Given the description of an element on the screen output the (x, y) to click on. 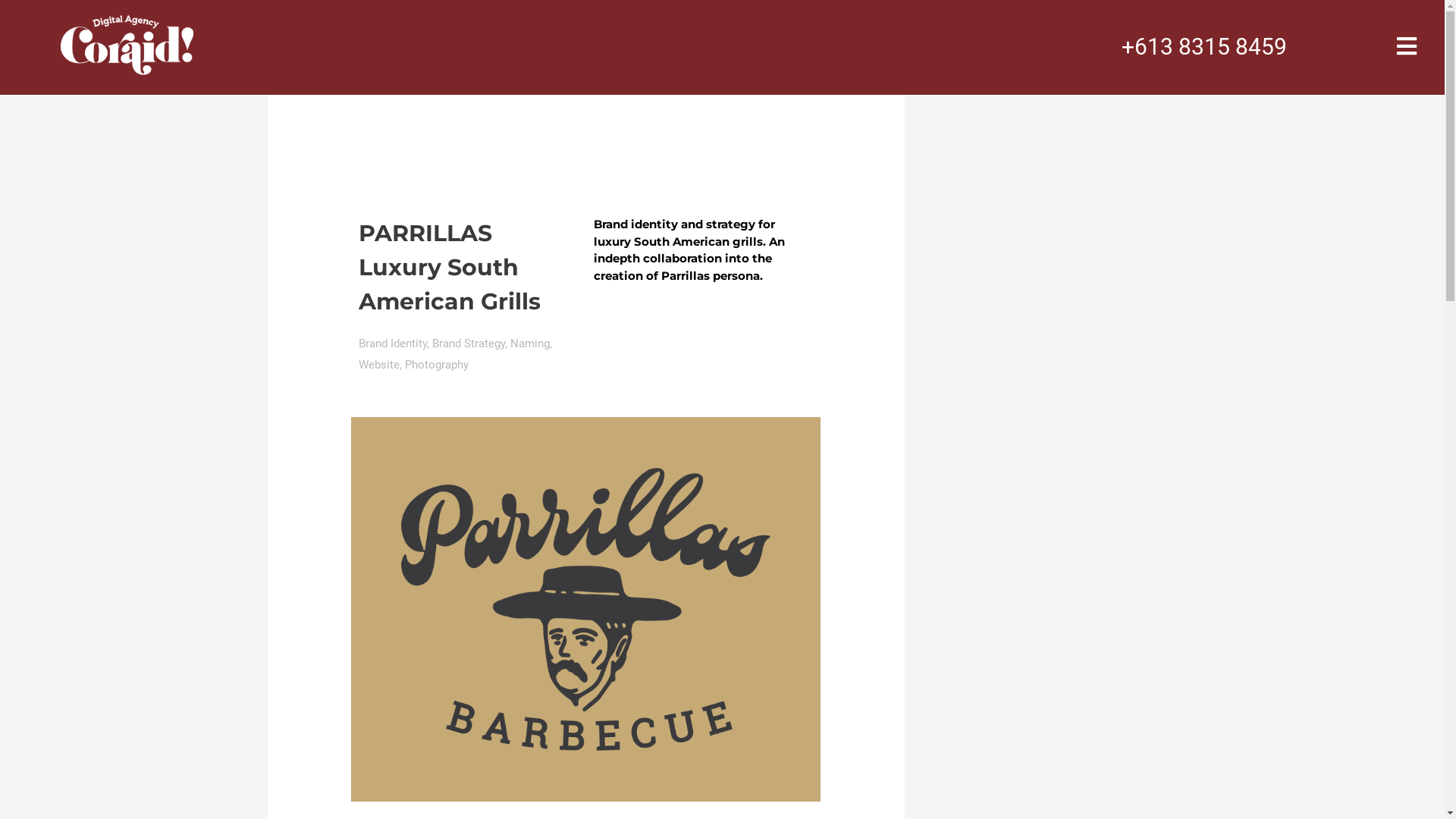
+613 8315 845 Element type: text (1197, 46)
